Given the description of an element on the screen output the (x, y) to click on. 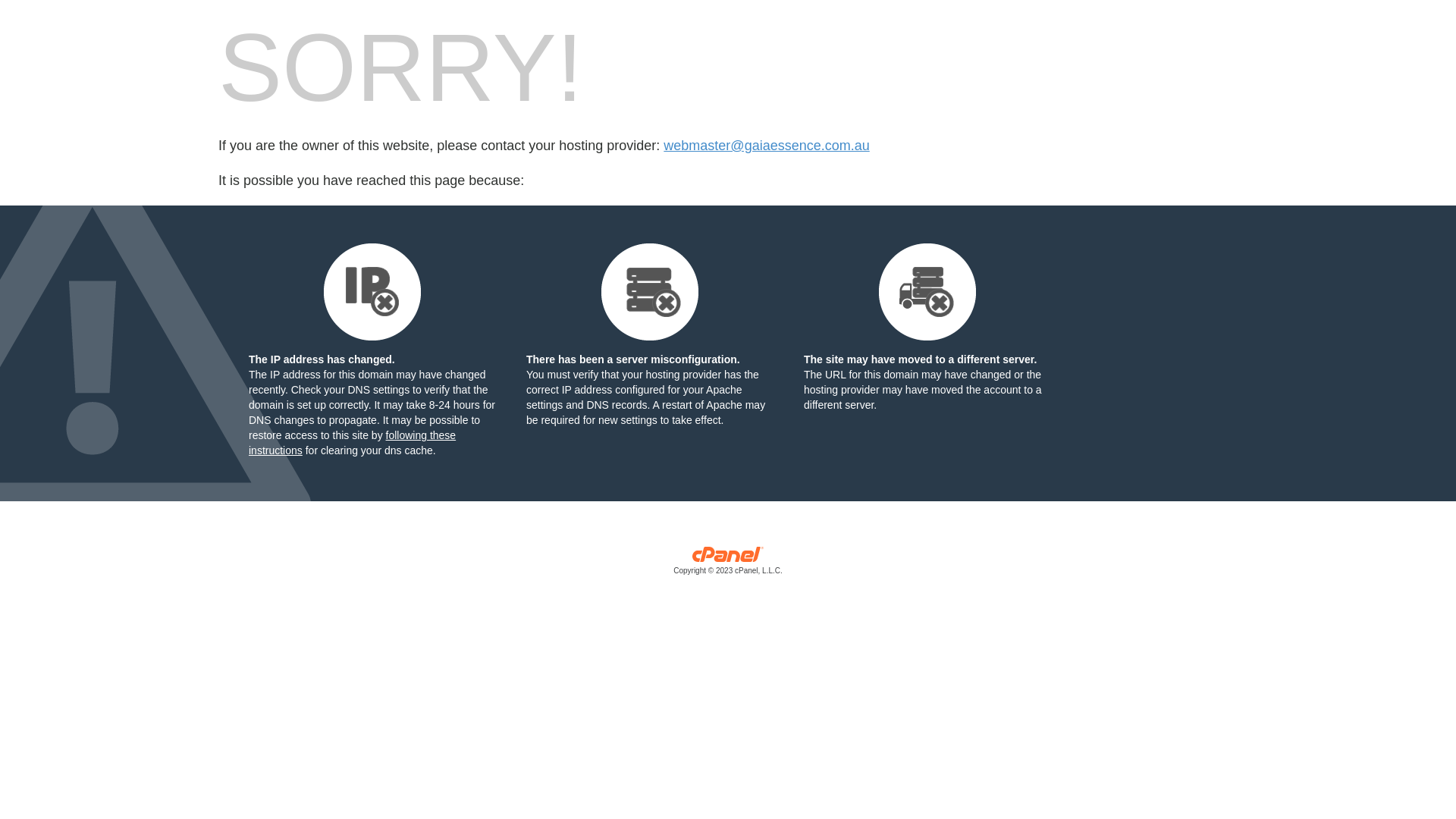
following these instructions Element type: text (351, 442)
webmaster@gaiaessence.com.au Element type: text (766, 145)
